Given the description of an element on the screen output the (x, y) to click on. 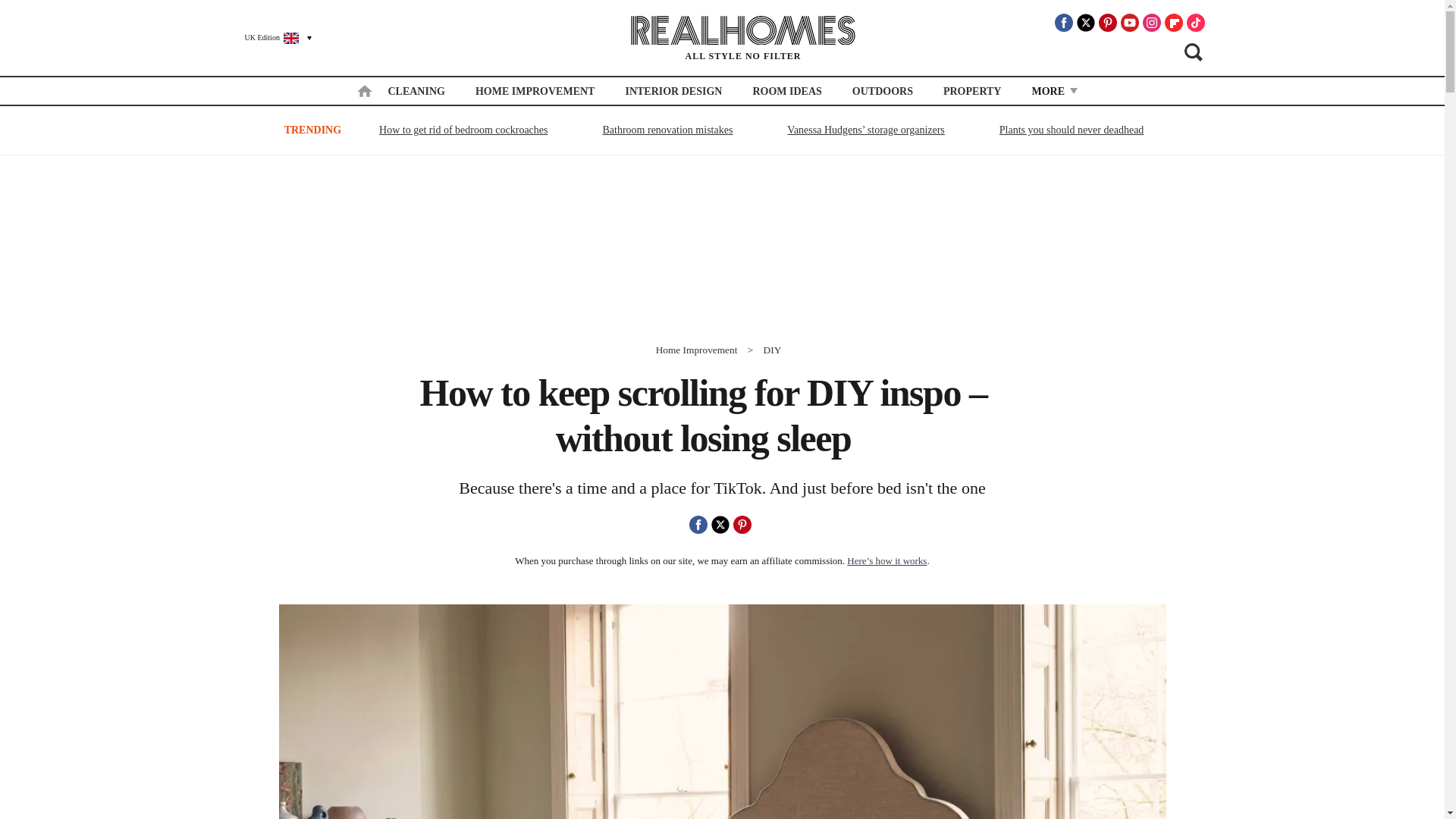
PROPERTY (972, 90)
HOME IMPROVEMENT (535, 90)
Home Improvement (697, 349)
UK Edition (271, 37)
DIY (771, 349)
CLEANING (415, 90)
Plants you should never deadhead (1072, 129)
ALL STYLE NO FILTER (742, 38)
How to get rid of bedroom cockroaches (463, 129)
INTERIOR DESIGN (673, 90)
